Given the description of an element on the screen output the (x, y) to click on. 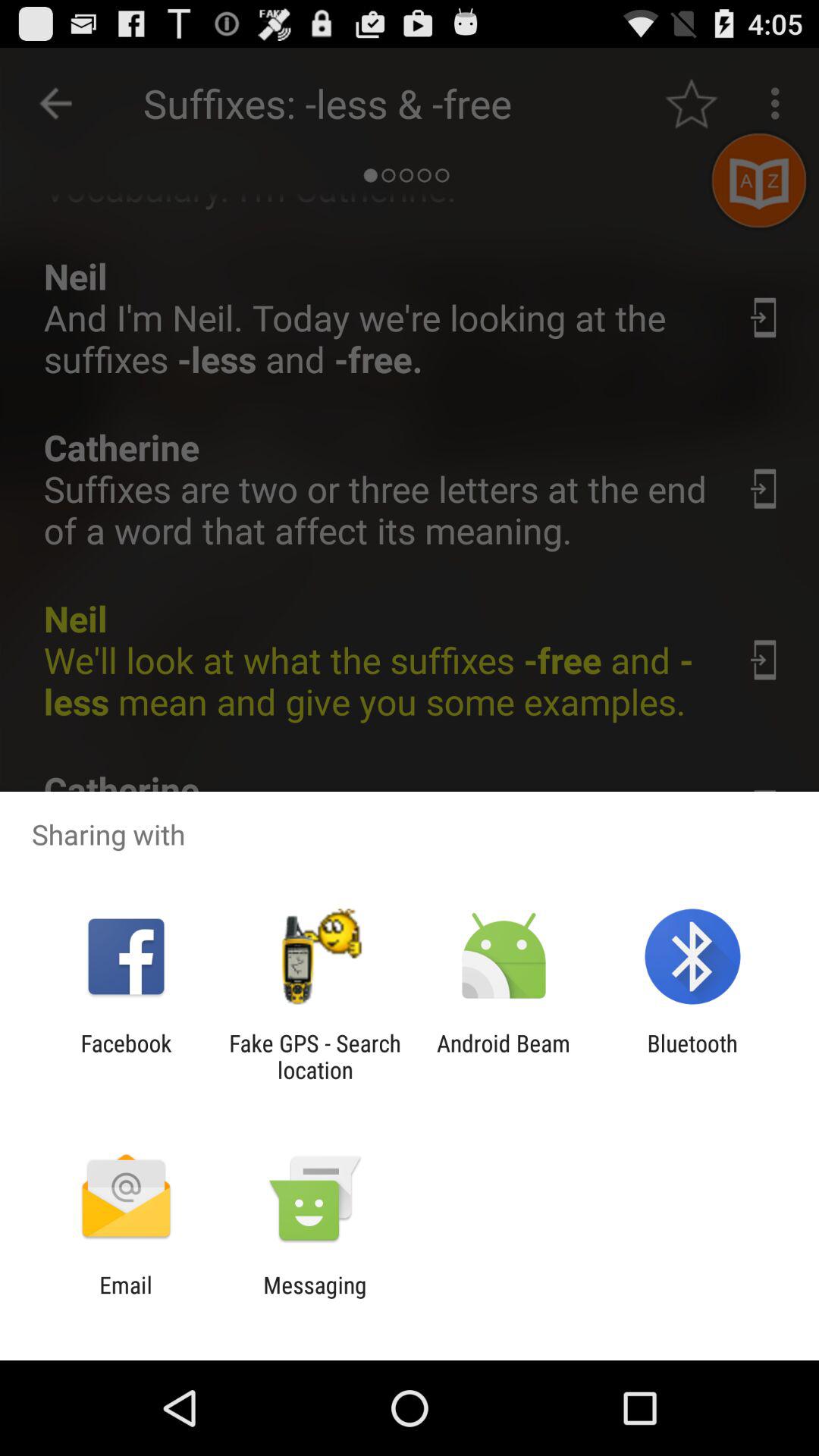
flip until the fake gps search (314, 1056)
